Given the description of an element on the screen output the (x, y) to click on. 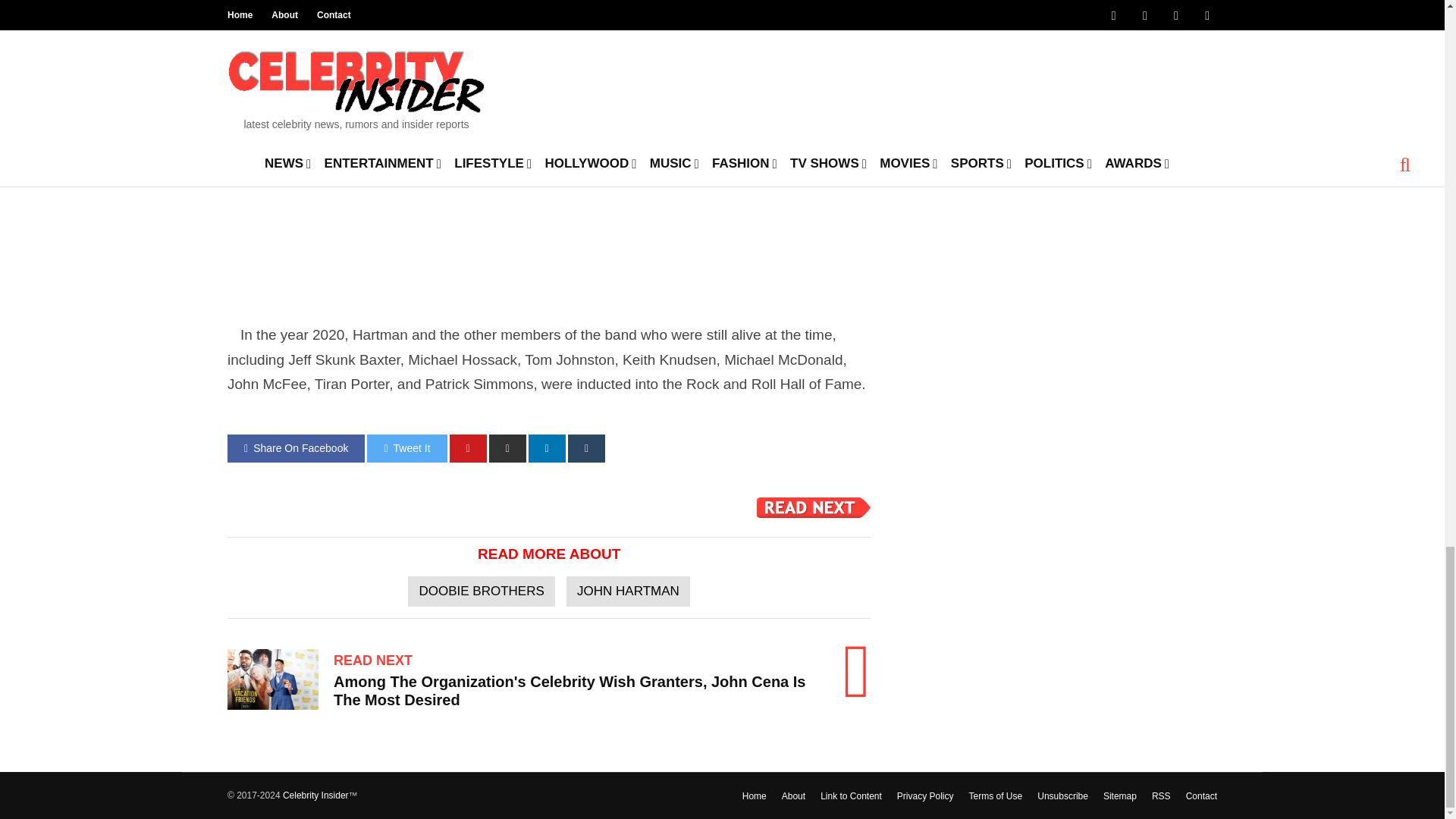
Share On Twitter (406, 448)
Share On Tumblr (586, 448)
Share On Linkedin (547, 448)
Share On Facebook (296, 448)
Share On Reddit (507, 448)
Share On Pinterest (467, 448)
